Given the description of an element on the screen output the (x, y) to click on. 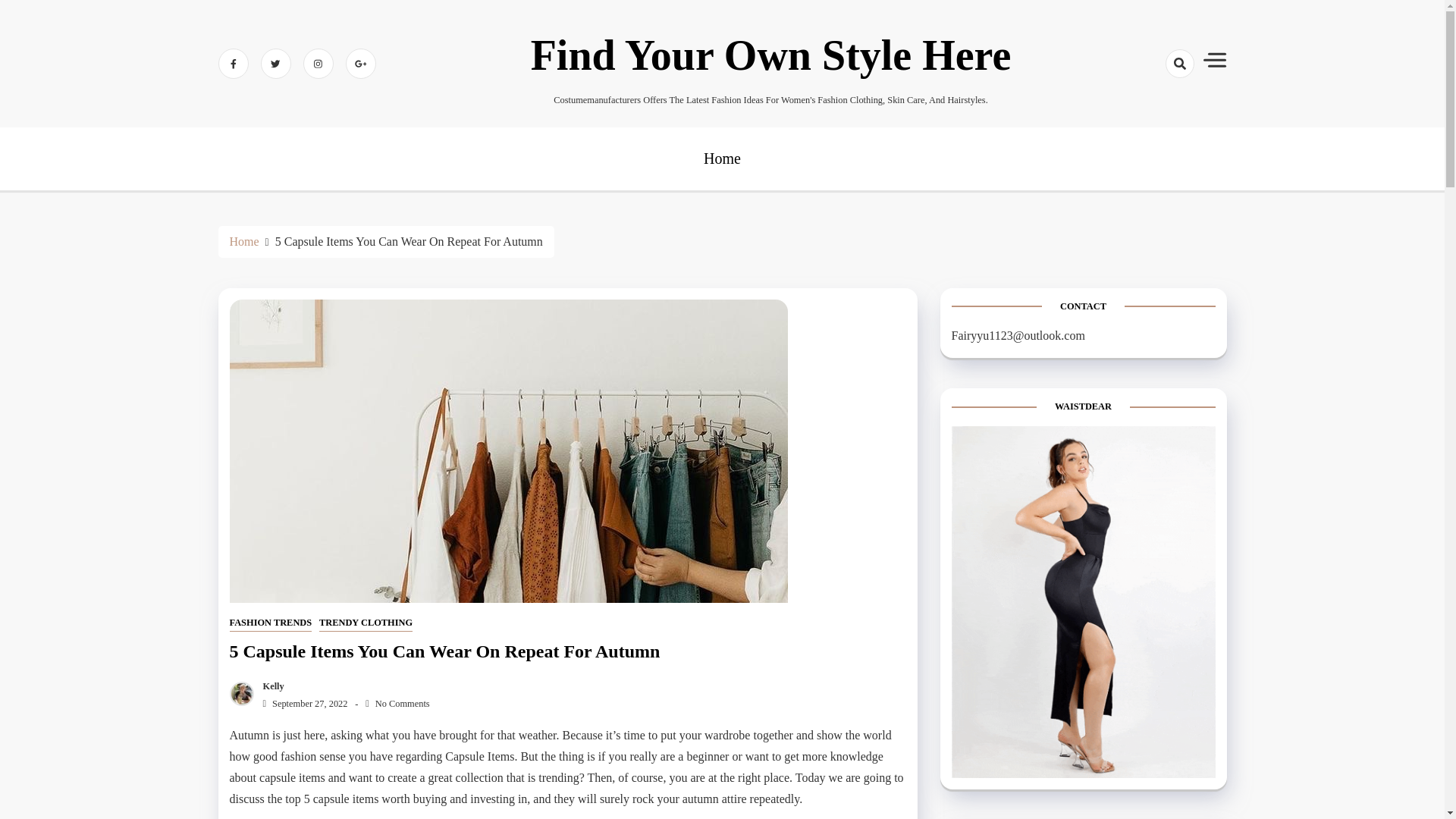
Search (1152, 117)
FASHION TRENDS (269, 623)
Find Your Own Style Here (771, 54)
Home (243, 241)
No Comments (397, 703)
TRENDY CLOTHING (365, 623)
September 27, 2022 (301, 703)
Kelly (269, 685)
